Given the description of an element on the screen output the (x, y) to click on. 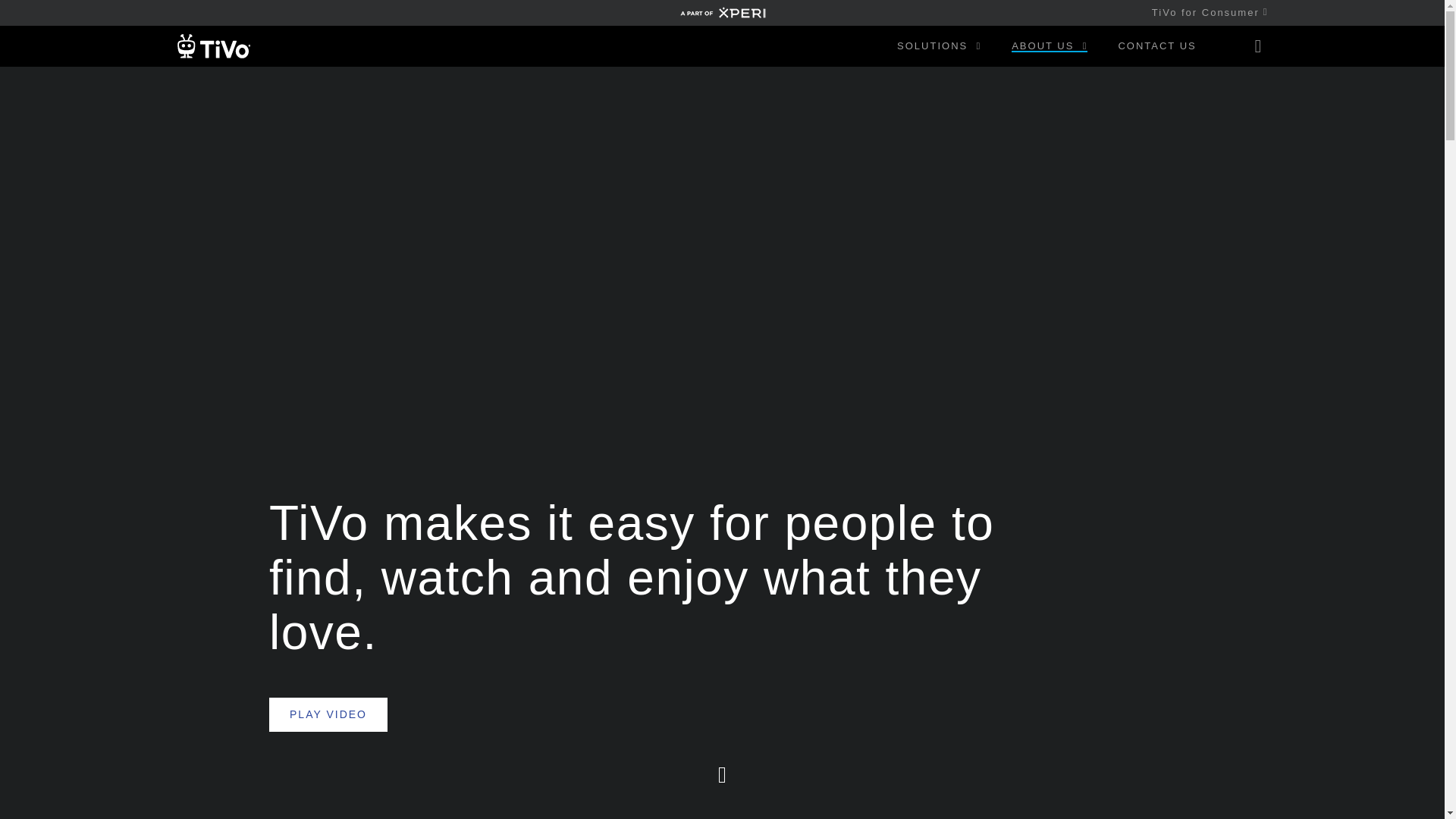
SOLUTIONS (938, 46)
TiVo for Consumer (1202, 12)
CONTACT US (1156, 46)
ABOUT US (1049, 46)
PLAY VIDEO (328, 714)
